Given the description of an element on the screen output the (x, y) to click on. 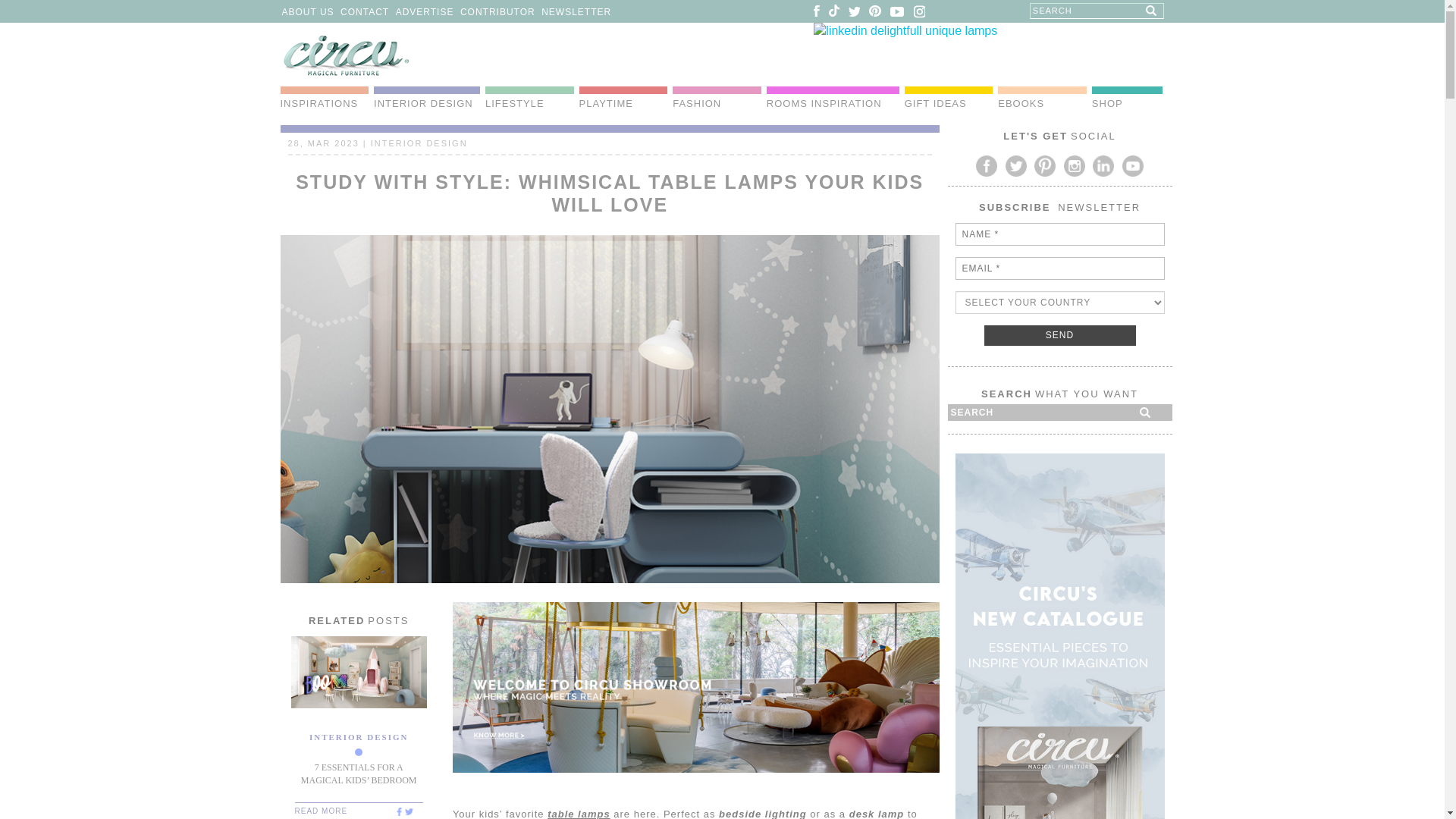
SEND (1059, 335)
circudesign (408, 810)
ADVERTISE (425, 11)
Search for: (1096, 10)
CONTRIBUTOR (497, 11)
circudesign (398, 810)
NEWSLETTER (576, 11)
ABOUT US (308, 11)
CONTACT (364, 11)
